Given the description of an element on the screen output the (x, y) to click on. 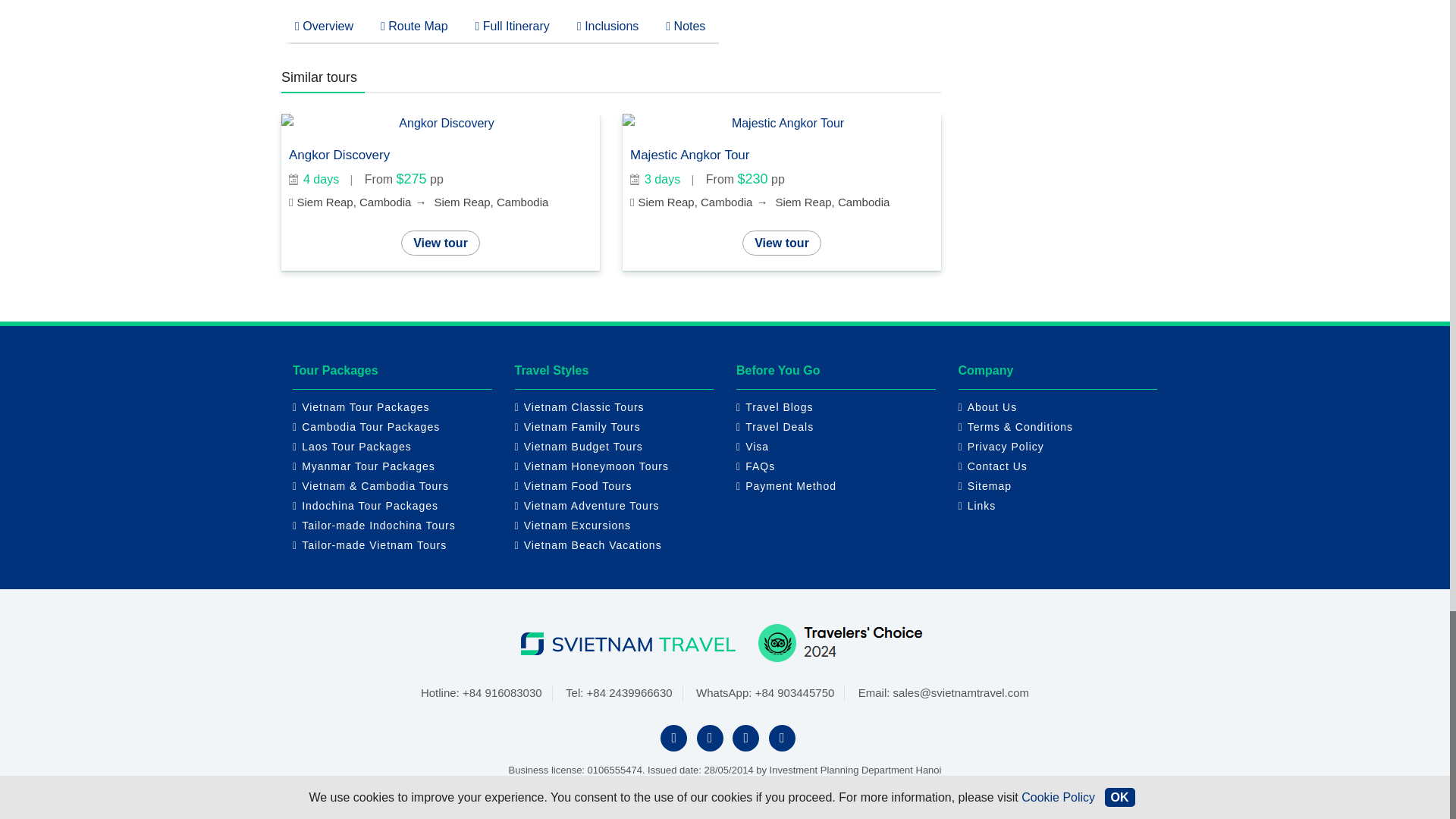
Share Angkor Wonder on Pinterest (893, 20)
Angkor Discovery  (440, 122)
Email (926, 20)
Share Angkor Wonder on Twitter (829, 20)
View this tour (440, 242)
Majestic Angkor Tour  (781, 122)
Share Angkor Wonder on Facebook (796, 20)
Share Angkor Wonder on Linkedin (861, 20)
